Given the description of an element on the screen output the (x, y) to click on. 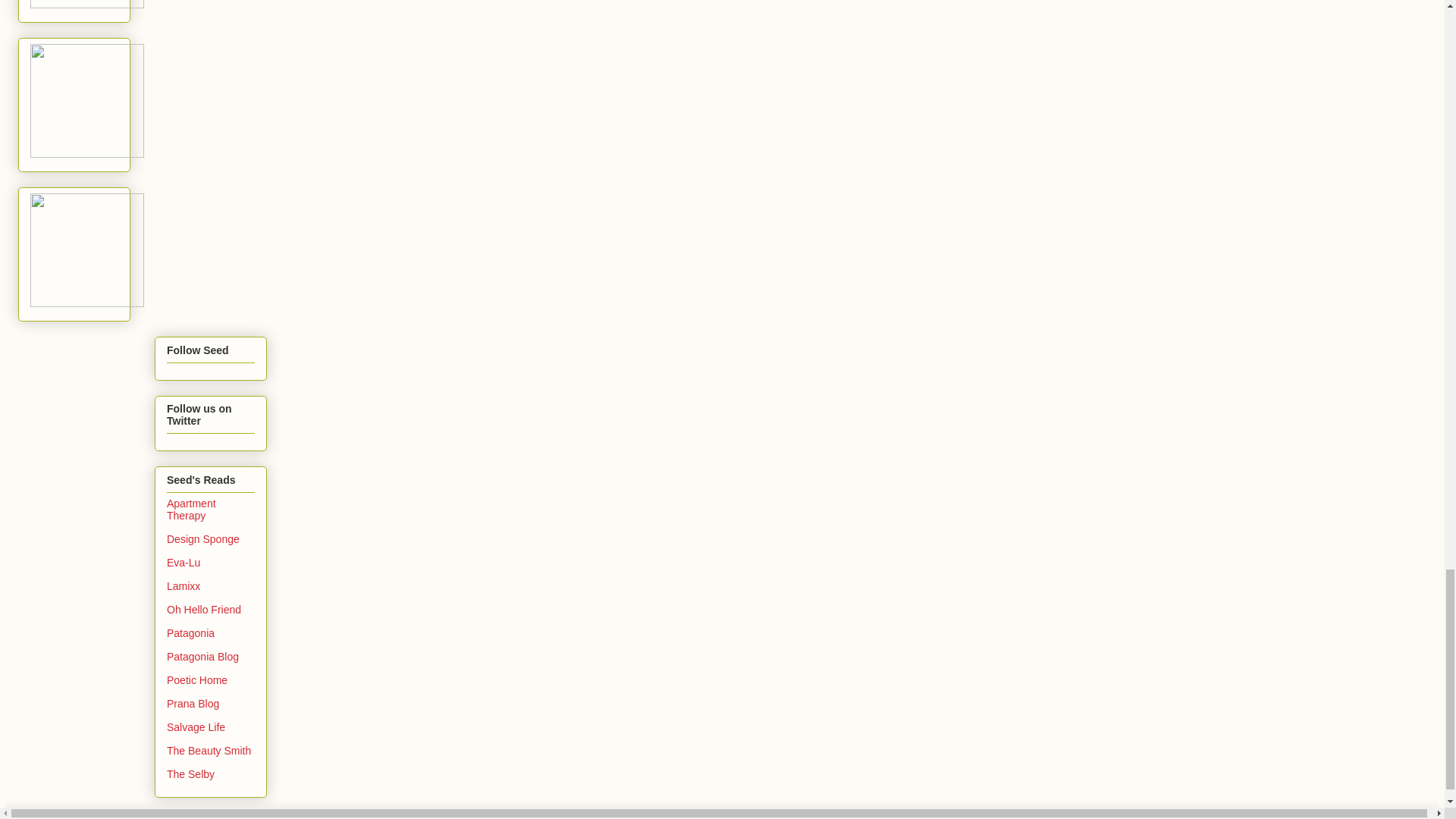
Patagonia (190, 633)
Patagonia Blog (202, 656)
Oh Hello Friend (204, 609)
Eva-Lu (183, 562)
Apartment Therapy (191, 509)
Lamixx (183, 585)
Design Sponge (203, 539)
